Given the description of an element on the screen output the (x, y) to click on. 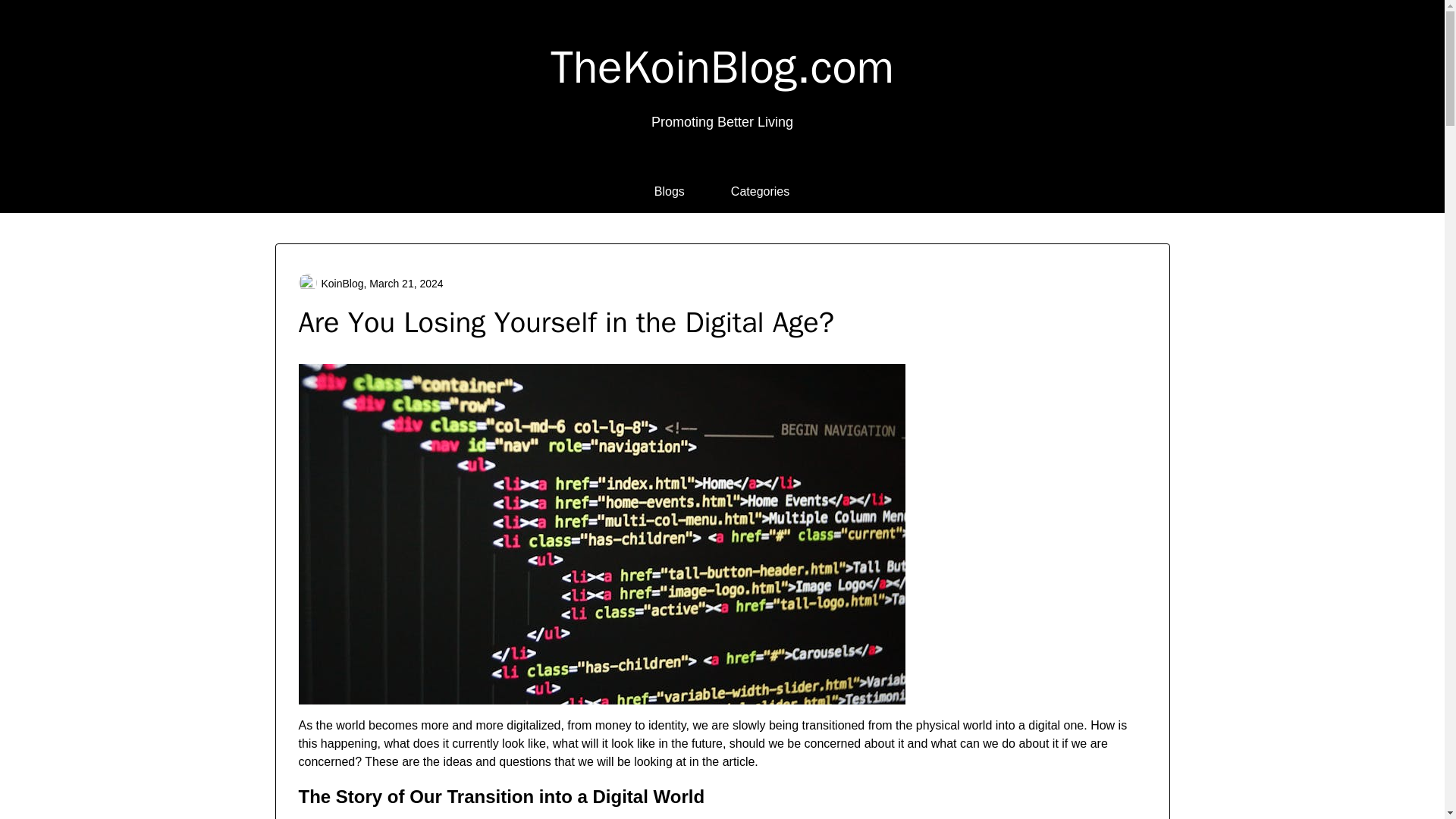
Categories (759, 191)
March 21, 2024 (405, 283)
Blogs (669, 191)
TheKoinBlog.com (722, 67)
